Given the description of an element on the screen output the (x, y) to click on. 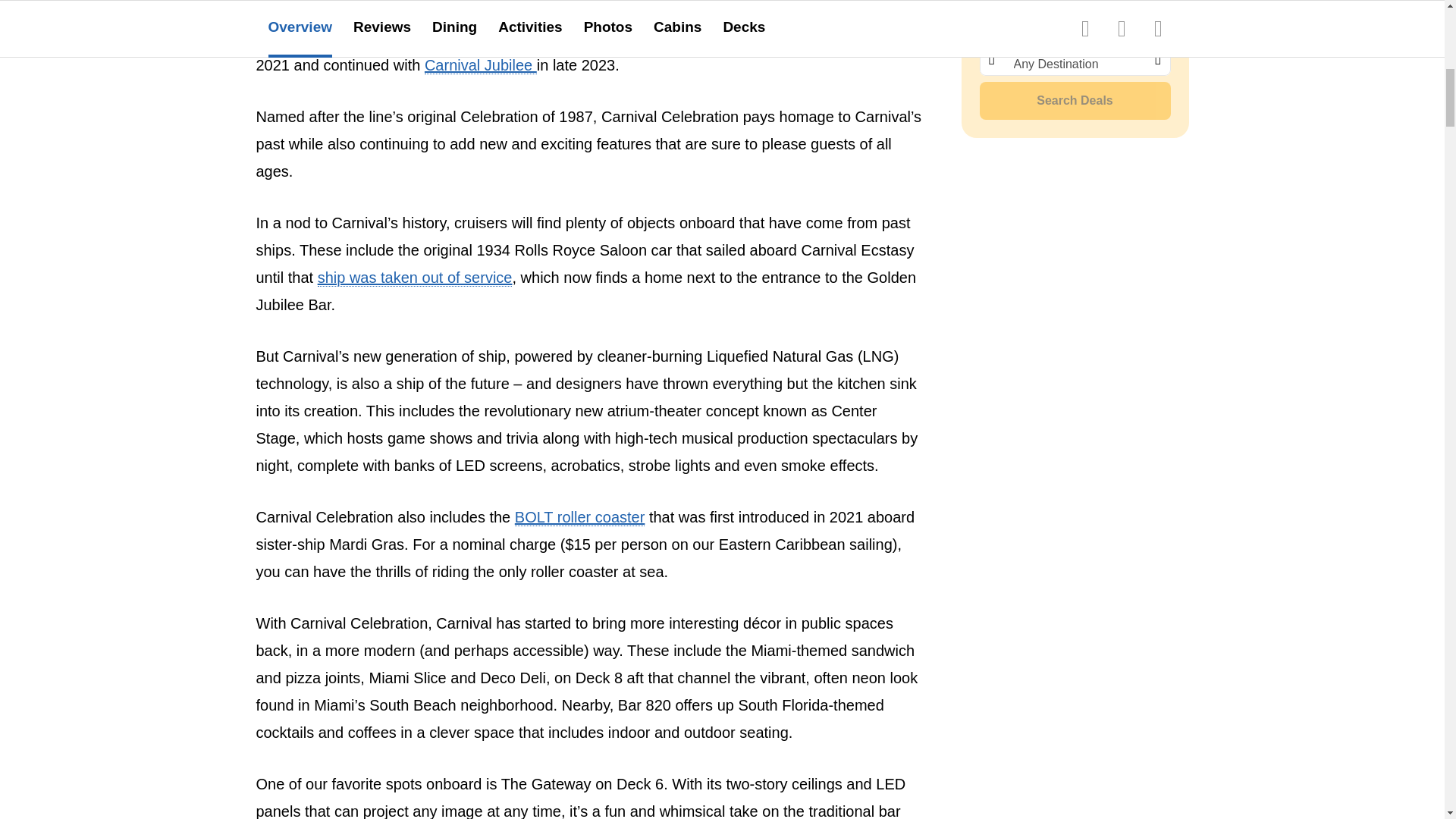
ship was taken out of service (414, 277)
Carnival Jubilee (481, 65)
BOLT roller coaster (580, 517)
Mardi Gras (844, 37)
Carnival Cruise Line (540, 37)
